Given the description of an element on the screen output the (x, y) to click on. 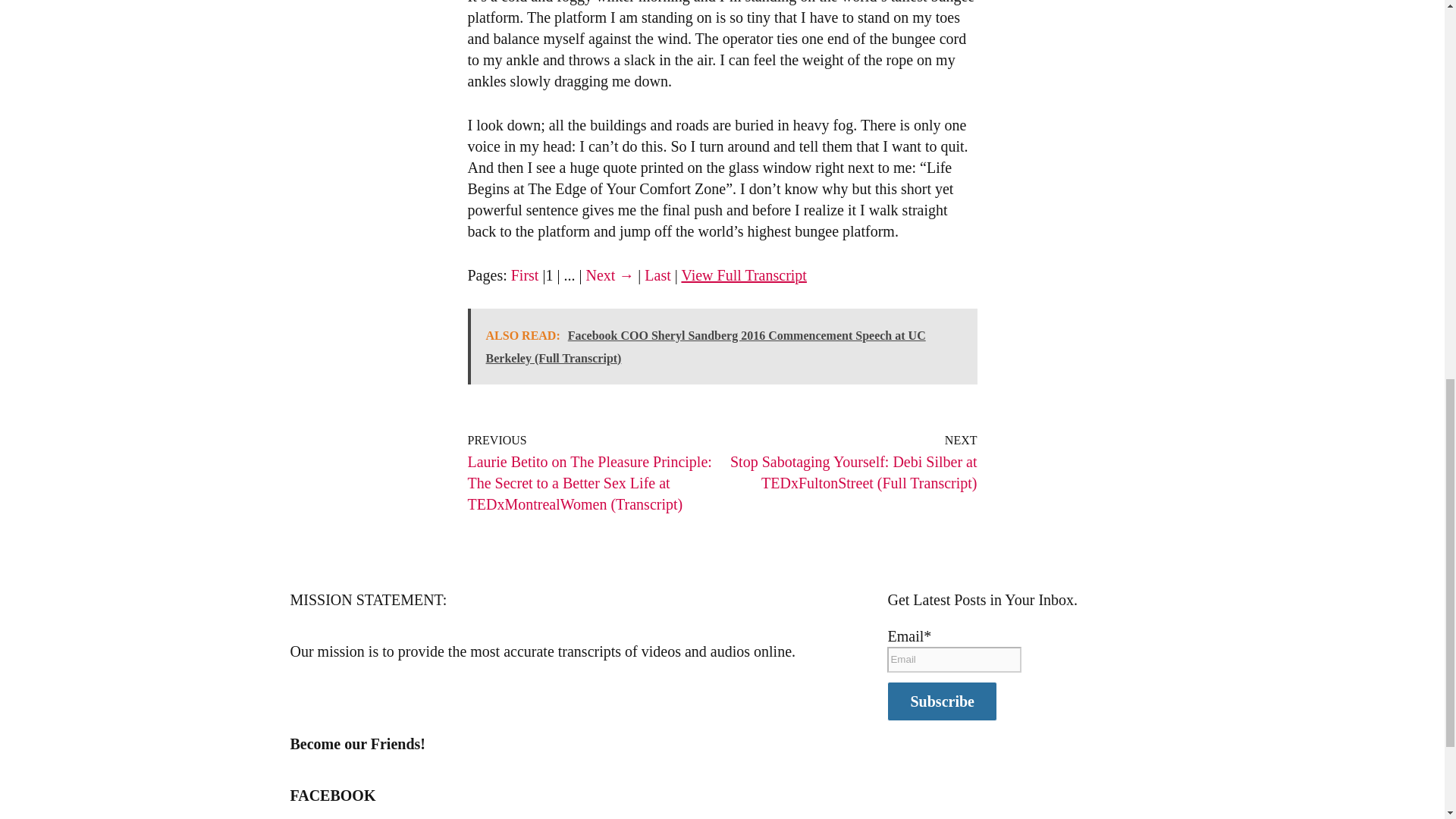
First (524, 274)
Subscribe (940, 701)
